Given the description of an element on the screen output the (x, y) to click on. 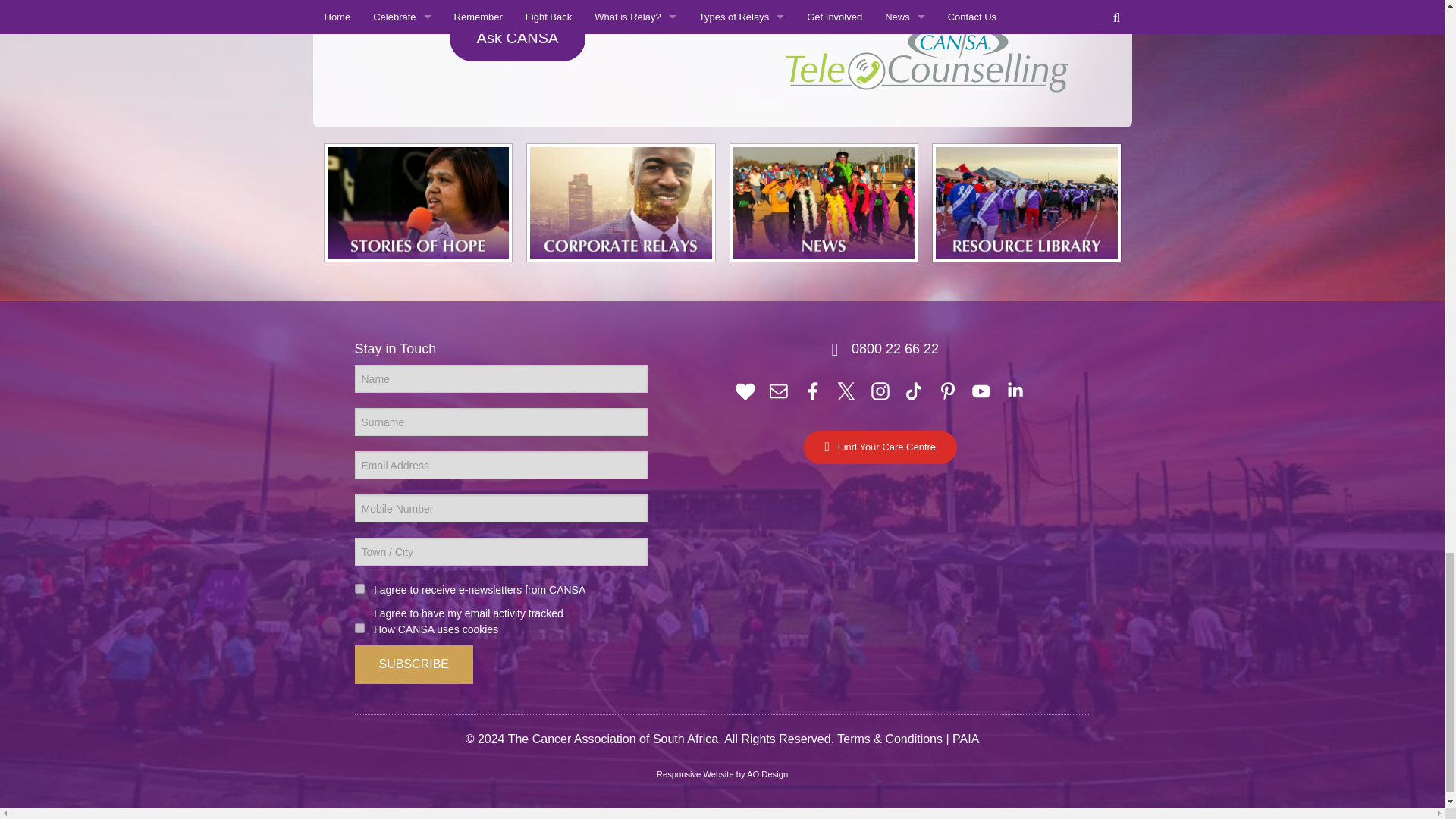
CANSA on YouTube (980, 390)
Donate to support the fight against cancer (745, 390)
Follow on twitter (846, 390)
Like Our Facebook Page (812, 390)
Pin it! (947, 390)
CANSA on Instagram (879, 390)
on (360, 588)
Subscribe to Our eNewsletter (777, 390)
on (360, 628)
LinkedIn (1015, 390)
CANSA on TikTok (913, 390)
